Given the description of an element on the screen output the (x, y) to click on. 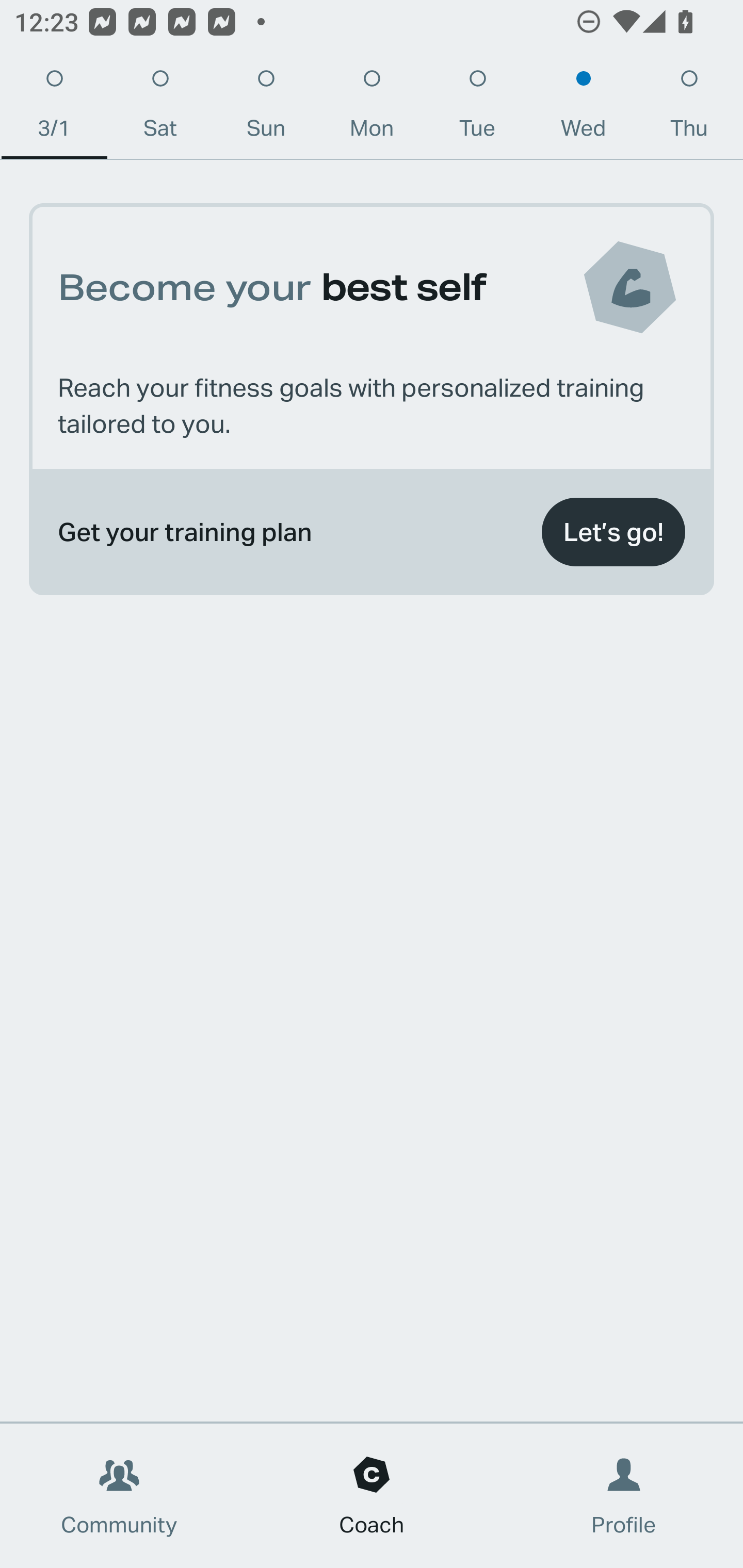
3/1 (53, 108)
Sat (159, 108)
Sun (265, 108)
Mon (371, 108)
Tue (477, 108)
Wed (583, 108)
Thu (689, 108)
Let’s go! (613, 532)
Community (119, 1495)
Profile (624, 1495)
